Given the description of an element on the screen output the (x, y) to click on. 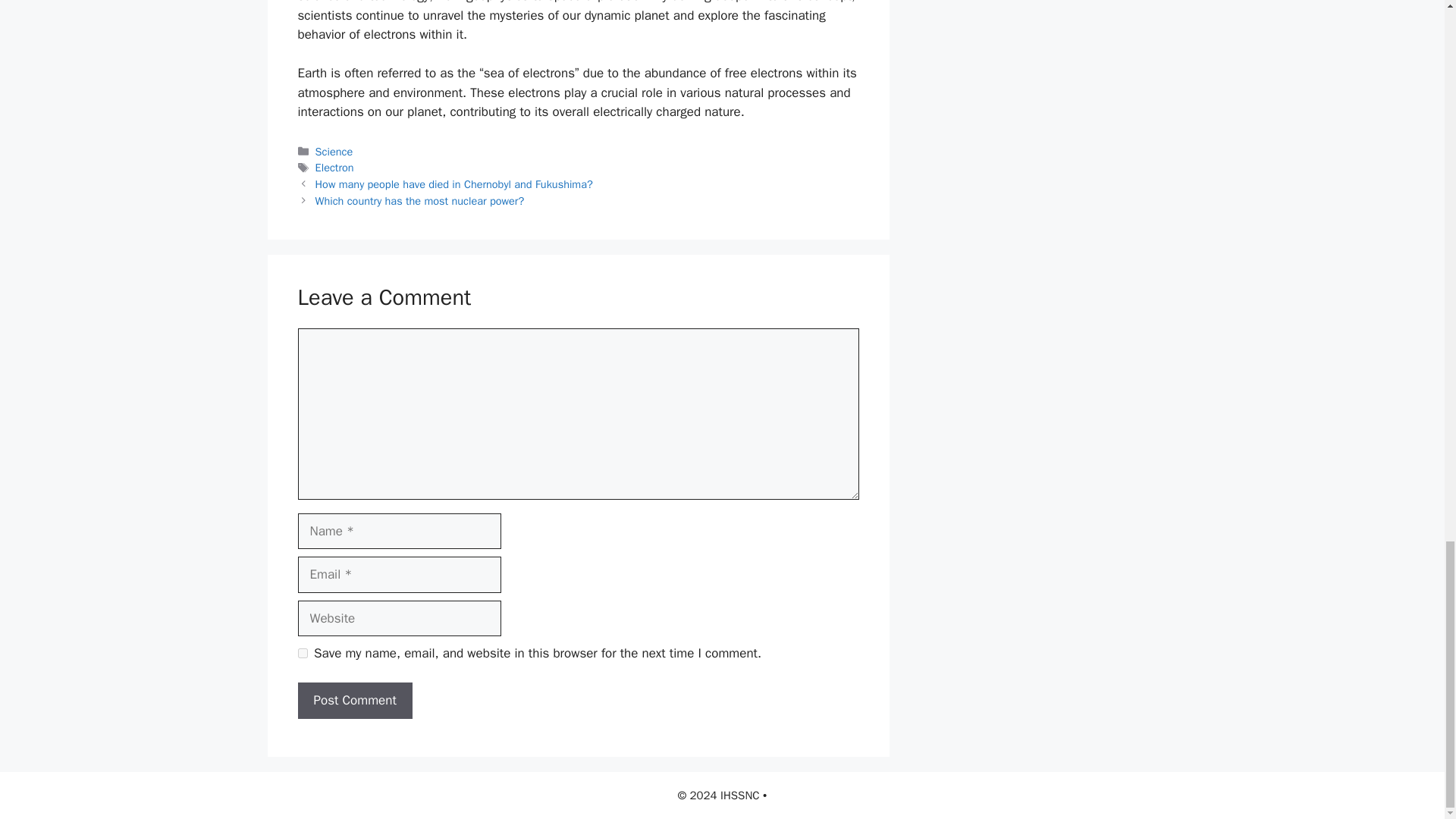
Post Comment (354, 700)
Science (334, 151)
Post Comment (354, 700)
How many people have died in Chernobyl and Fukushima? (453, 183)
yes (302, 653)
Electron (334, 167)
Which country has the most nuclear power? (419, 201)
